Given the description of an element on the screen output the (x, y) to click on. 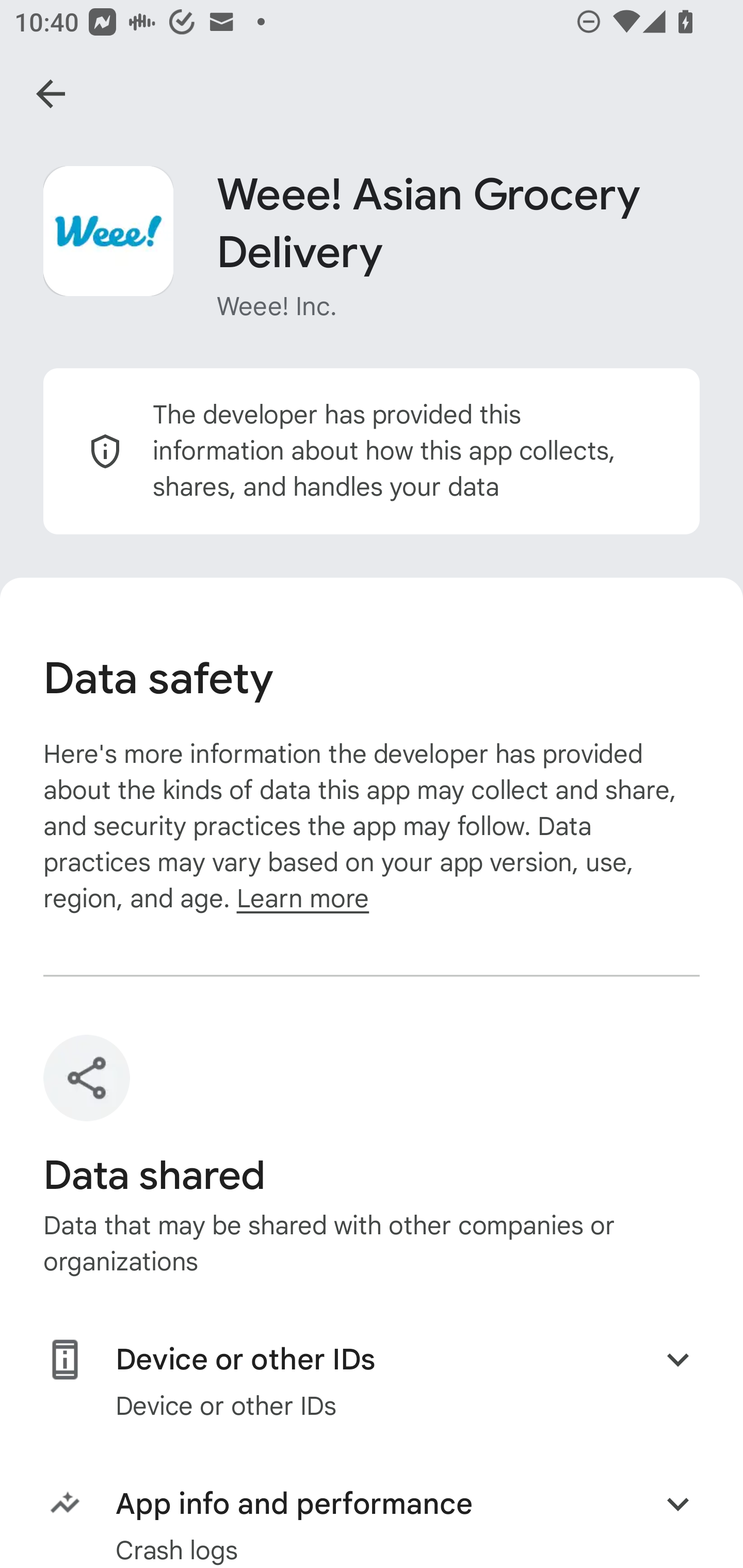
Navigate up (50, 93)
